Given the description of an element on the screen output the (x, y) to click on. 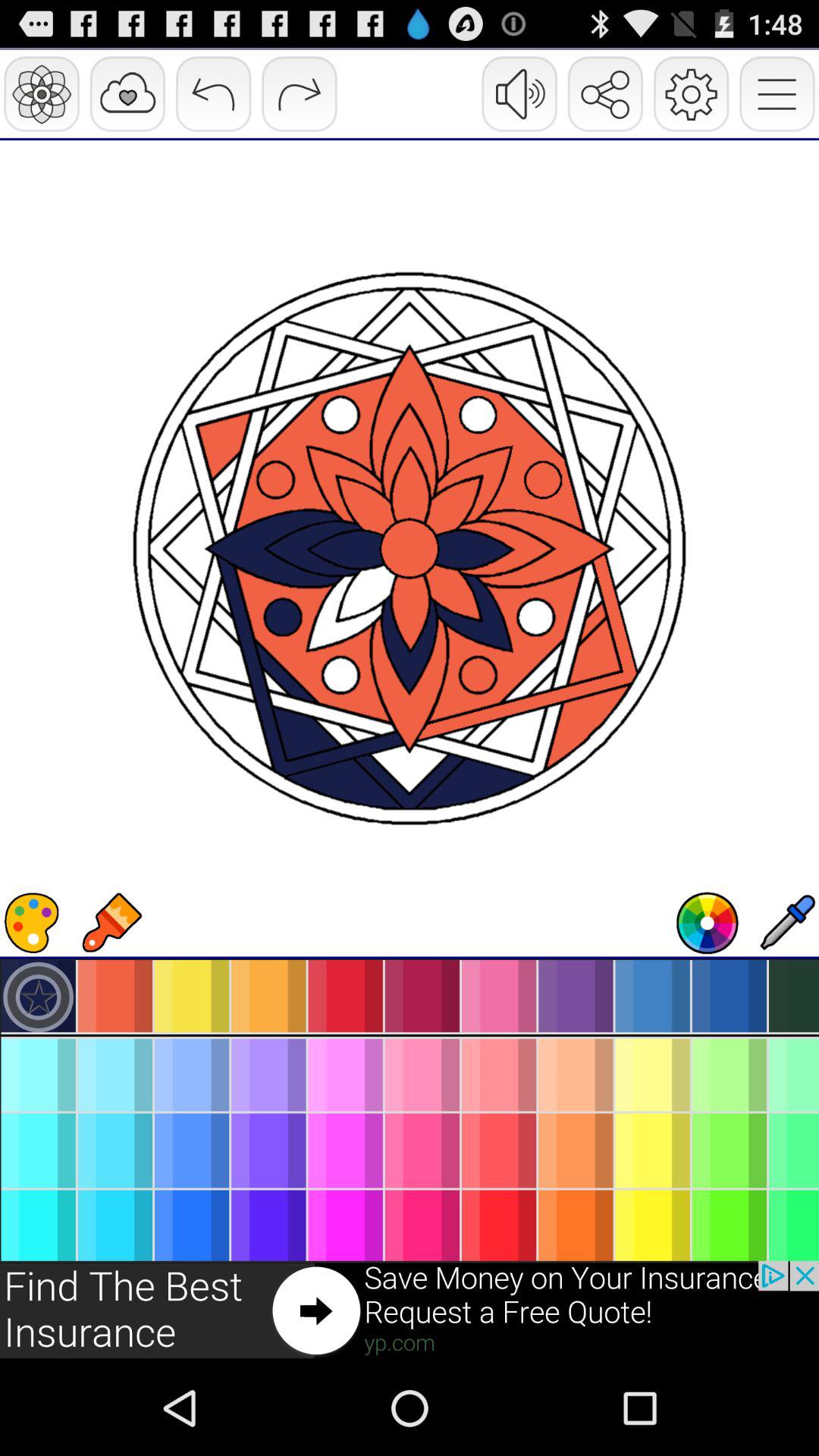
toggle paint brush (111, 922)
